Given the description of an element on the screen output the (x, y) to click on. 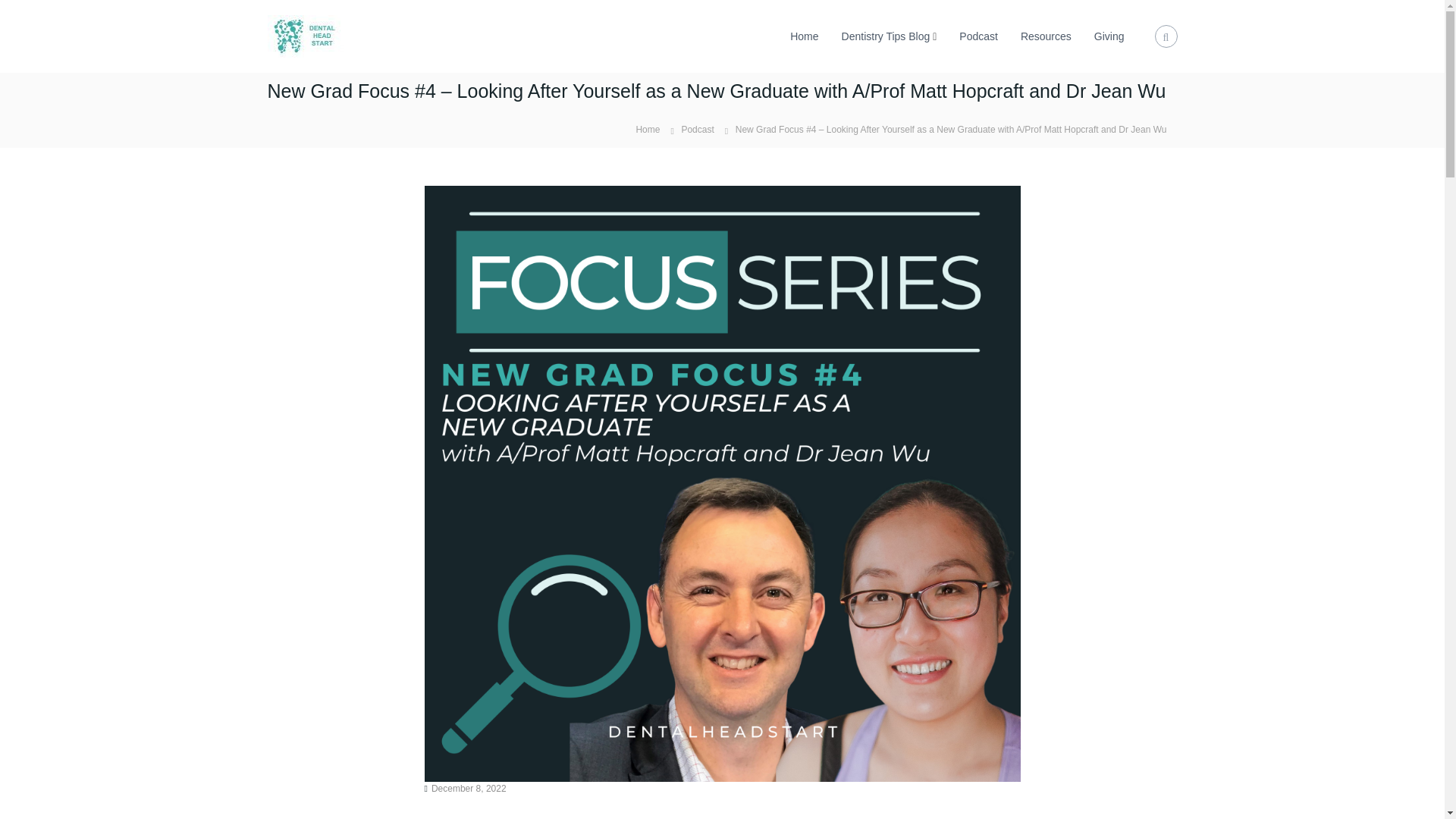
Home (646, 128)
Resources (1045, 36)
Podcast (697, 129)
Home (804, 36)
Giving (1109, 36)
Podcast (978, 36)
Dentistry Tips Blog (885, 36)
December 8, 2022 (468, 787)
Home (646, 128)
